Given the description of an element on the screen output the (x, y) to click on. 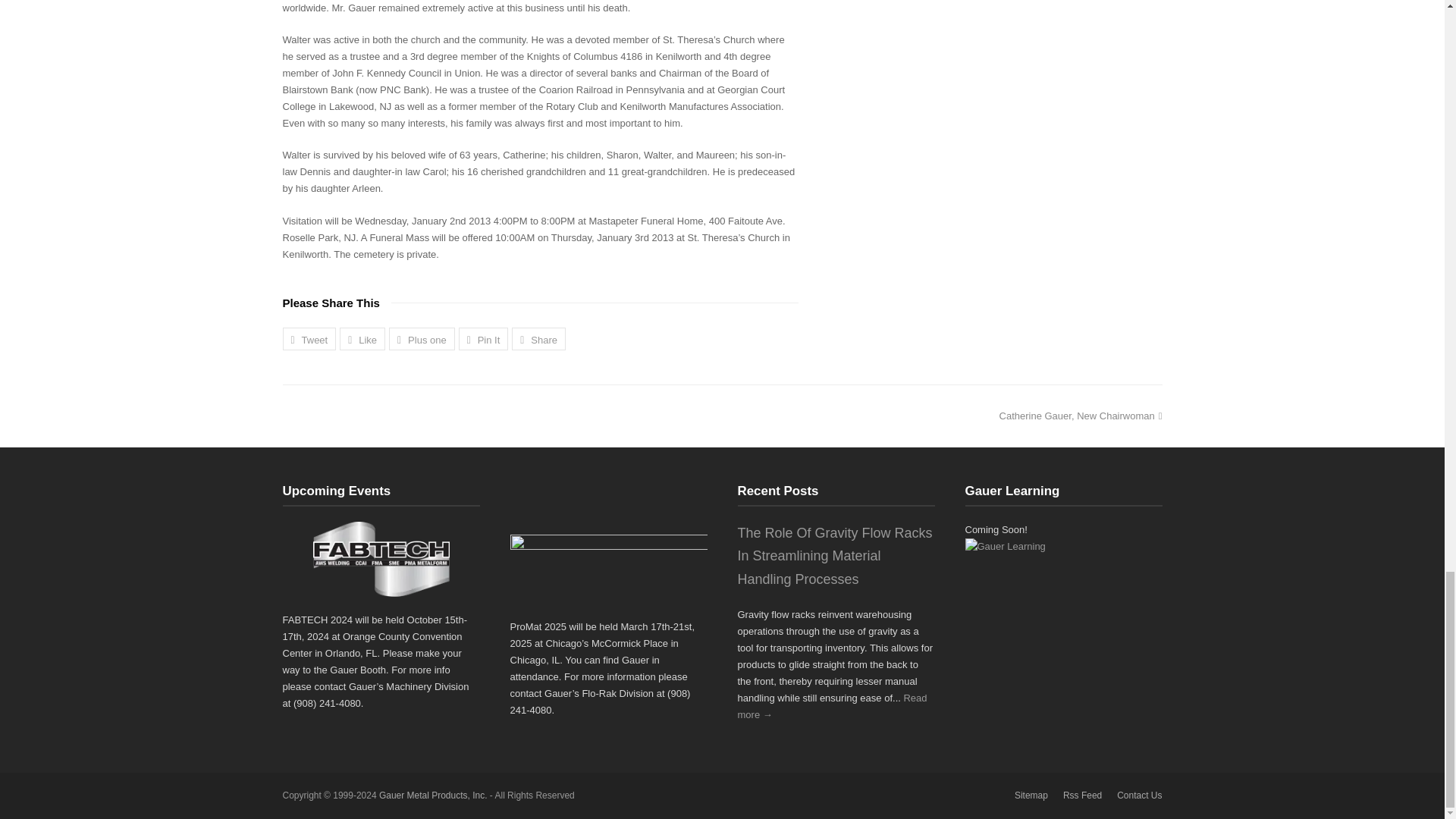
Like (362, 338)
Plus one (421, 338)
Pin It (483, 338)
Share (539, 338)
Tweet (309, 338)
